Given the description of an element on the screen output the (x, y) to click on. 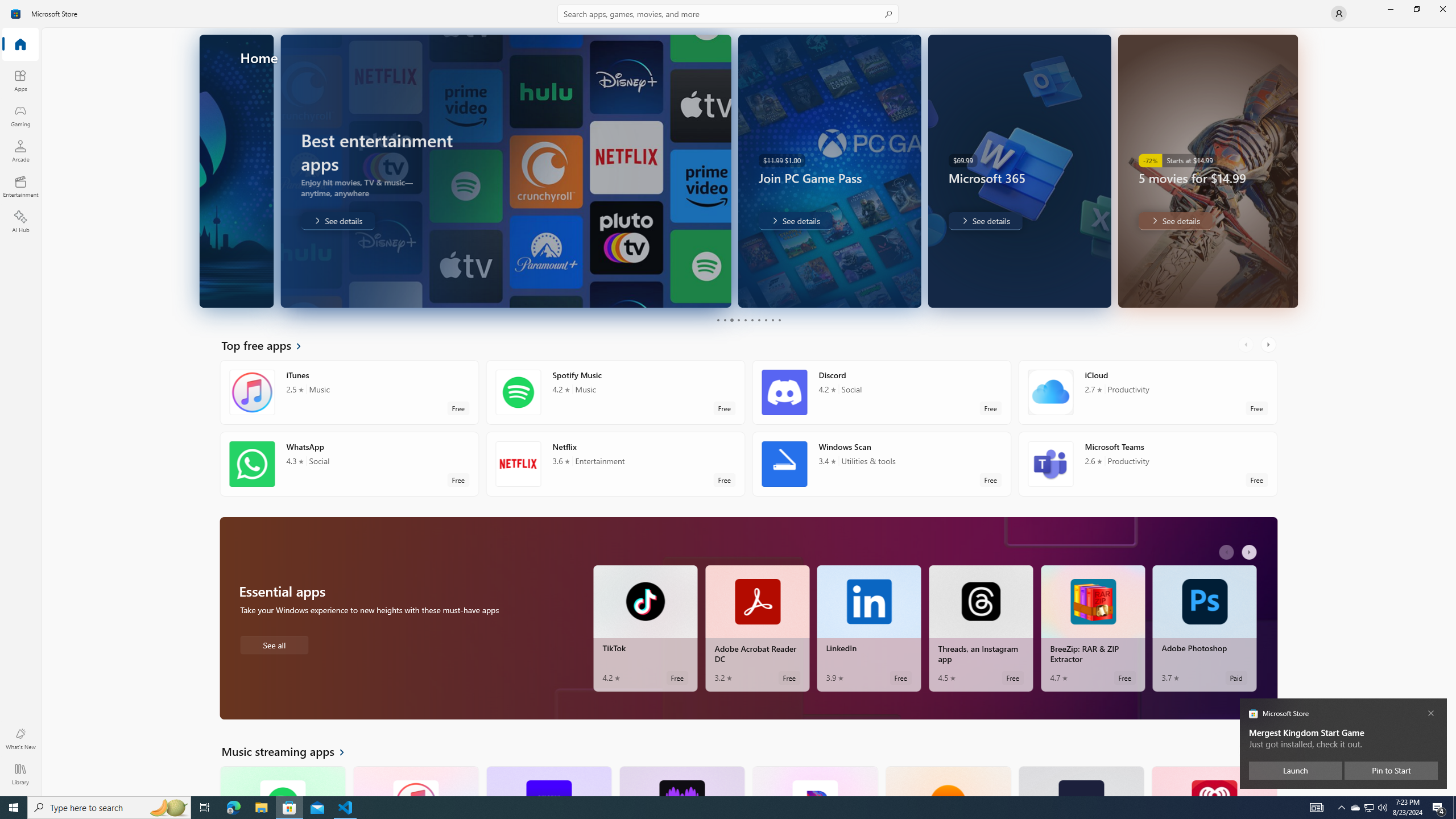
Page 4 (738, 319)
See all  Music streaming apps (289, 750)
User profile (1338, 13)
Netflix. Average rating of 3.6 out of five stars. Free   (615, 463)
What's New (20, 738)
Page 2 (724, 319)
Minimize Microsoft Store (1390, 9)
TikTok. Average rating of 4.2 out of five stars. Free   (644, 628)
AutomationID: Image (1290, 170)
iTunes. Average rating of 2.5 out of five stars. Free   (415, 780)
Restore Microsoft Store (1416, 9)
Apps (20, 80)
Page 7 (758, 319)
